Given the description of an element on the screen output the (x, y) to click on. 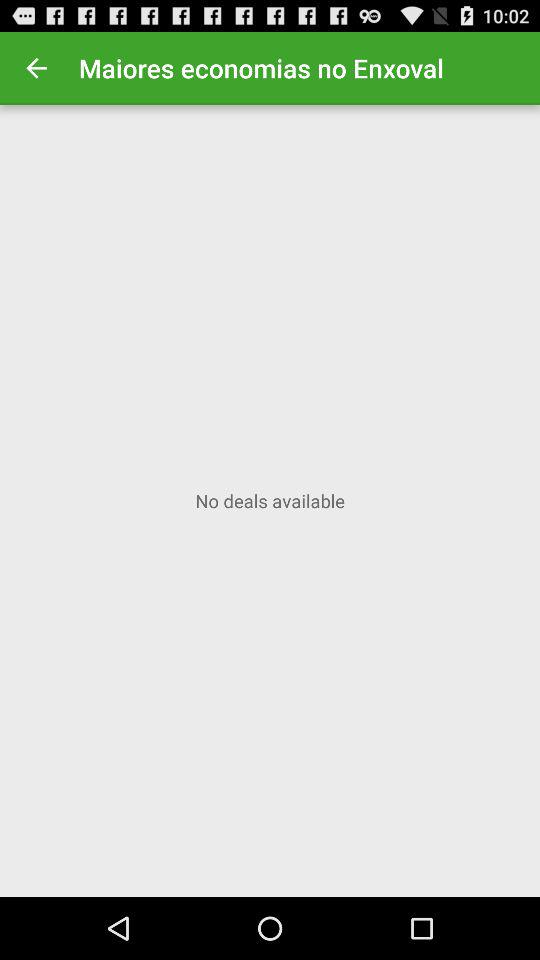
turn on item next to the maiores economias no app (36, 68)
